Given the description of an element on the screen output the (x, y) to click on. 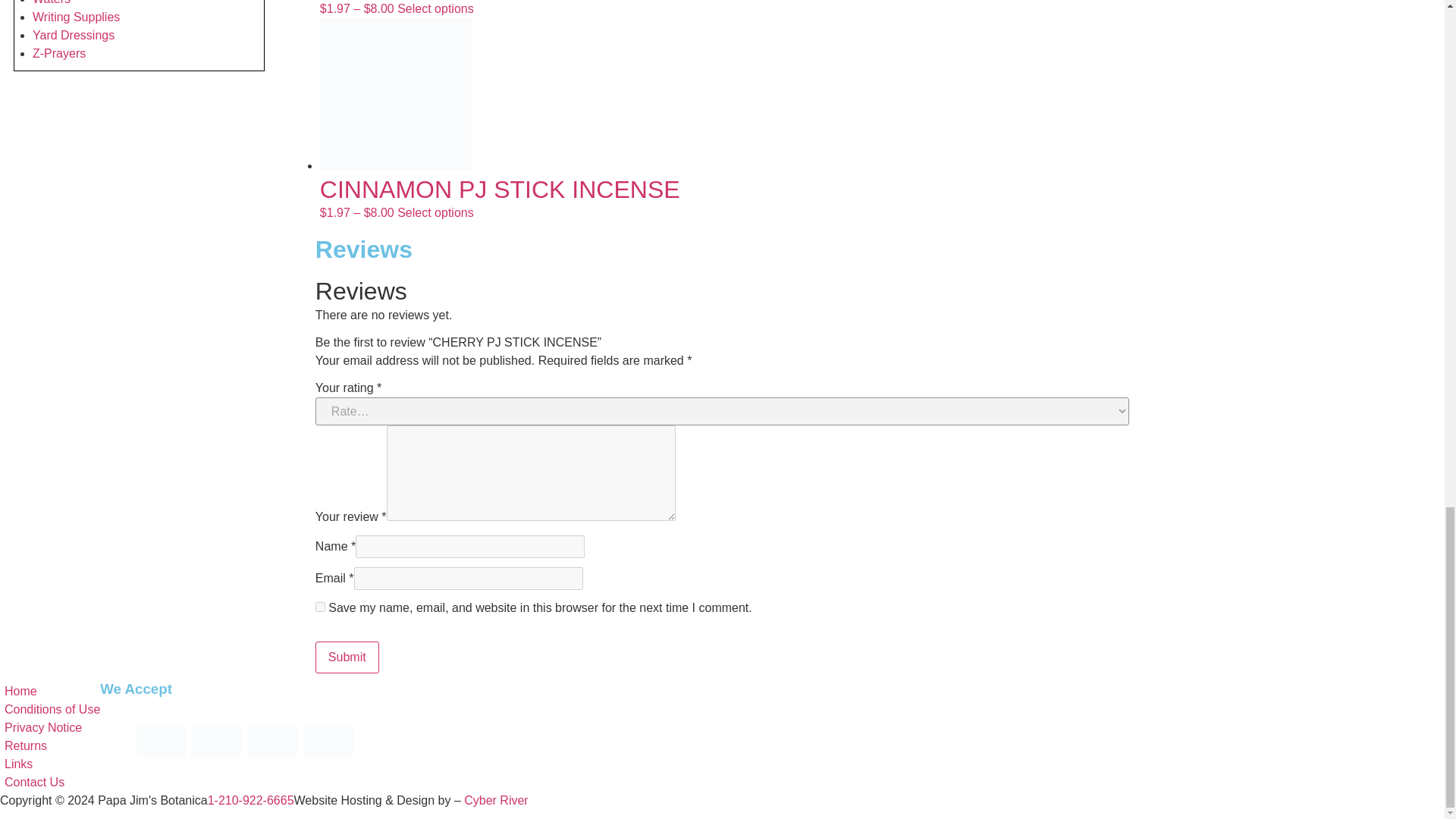
Submit (346, 657)
yes (319, 606)
